Given the description of an element on the screen output the (x, y) to click on. 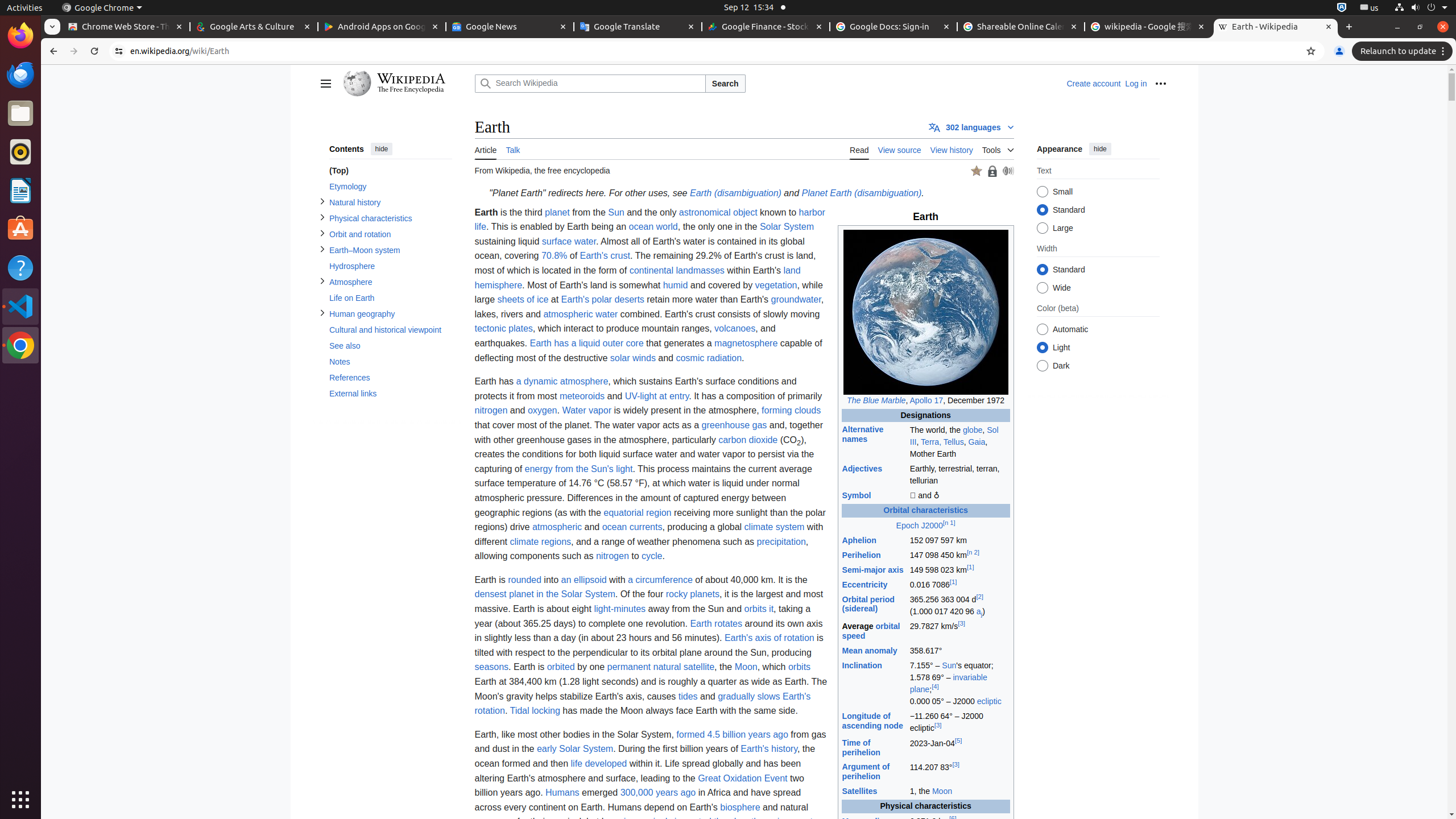
Tidal locking Element type: link (534, 710)
Earth's axis of rotation Element type: link (769, 638)
Earth's polar Element type: link (585, 299)
Etymology Element type: link (390, 186)
Physical characteristics Element type: link (390, 218)
